Given the description of an element on the screen output the (x, y) to click on. 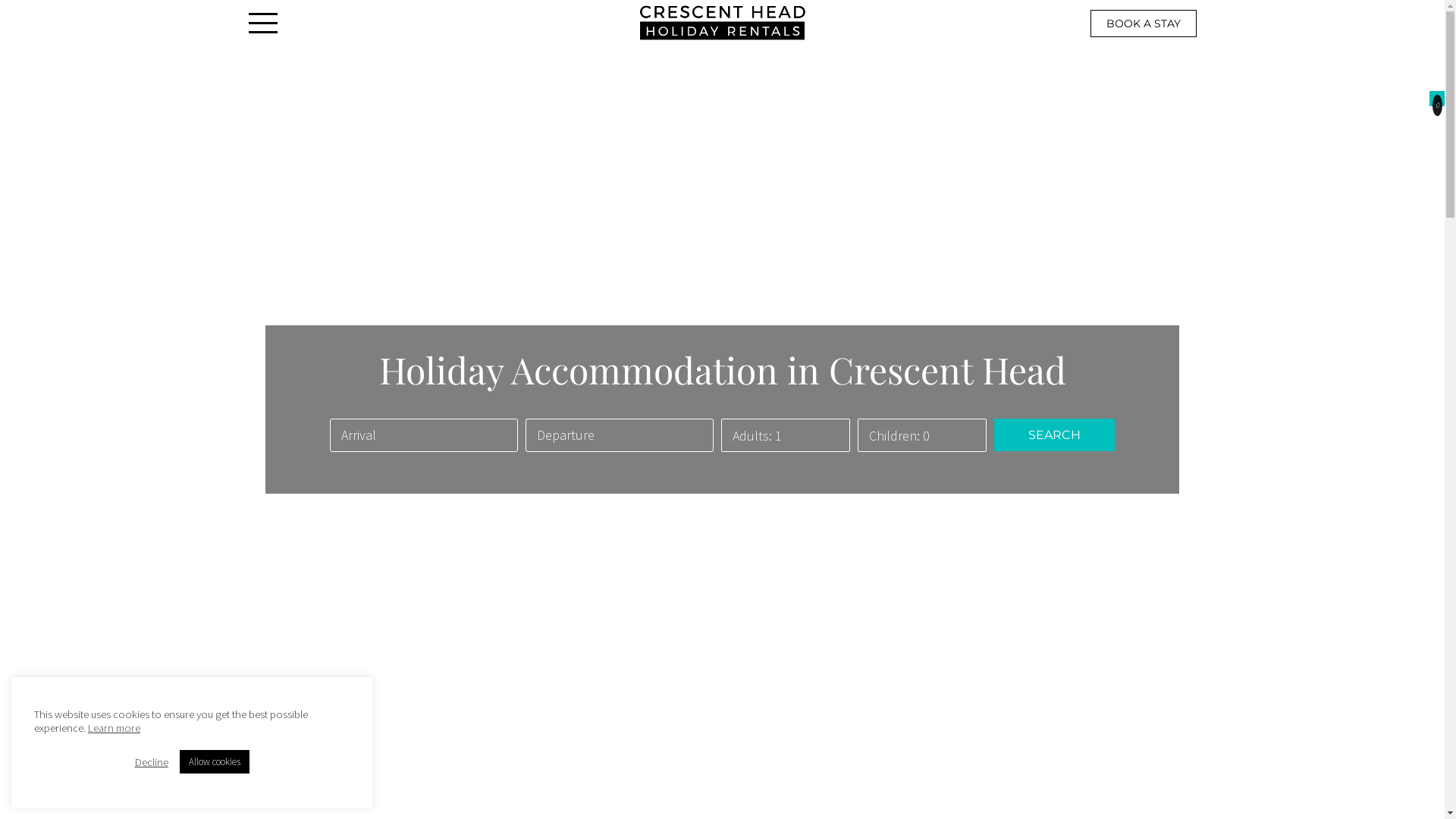
Search Element type: text (1054, 434)
Decline Element type: text (151, 761)
Allow cookies Element type: text (214, 761)
Learn more Element type: text (113, 727)
BOOK A STAY Element type: text (1143, 22)
